Given the description of an element on the screen output the (x, y) to click on. 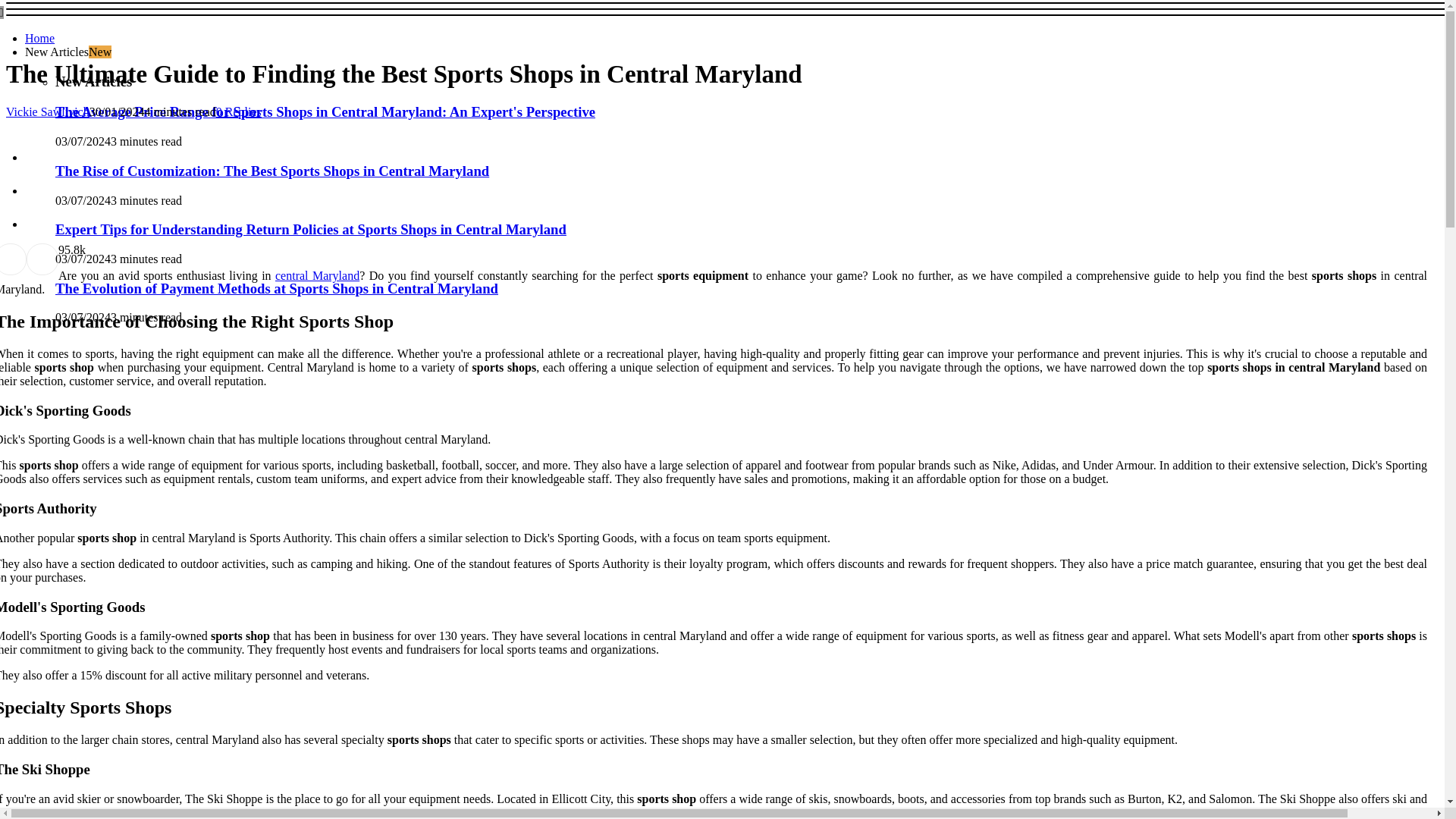
central Maryland (317, 275)
Like (61, 249)
9 (61, 249)
Posts by Vickie Sawlivich (46, 111)
New ArticlesNew (68, 51)
0 Replies (238, 111)
Home (39, 38)
Vickie Sawlivich (46, 111)
